Given the description of an element on the screen output the (x, y) to click on. 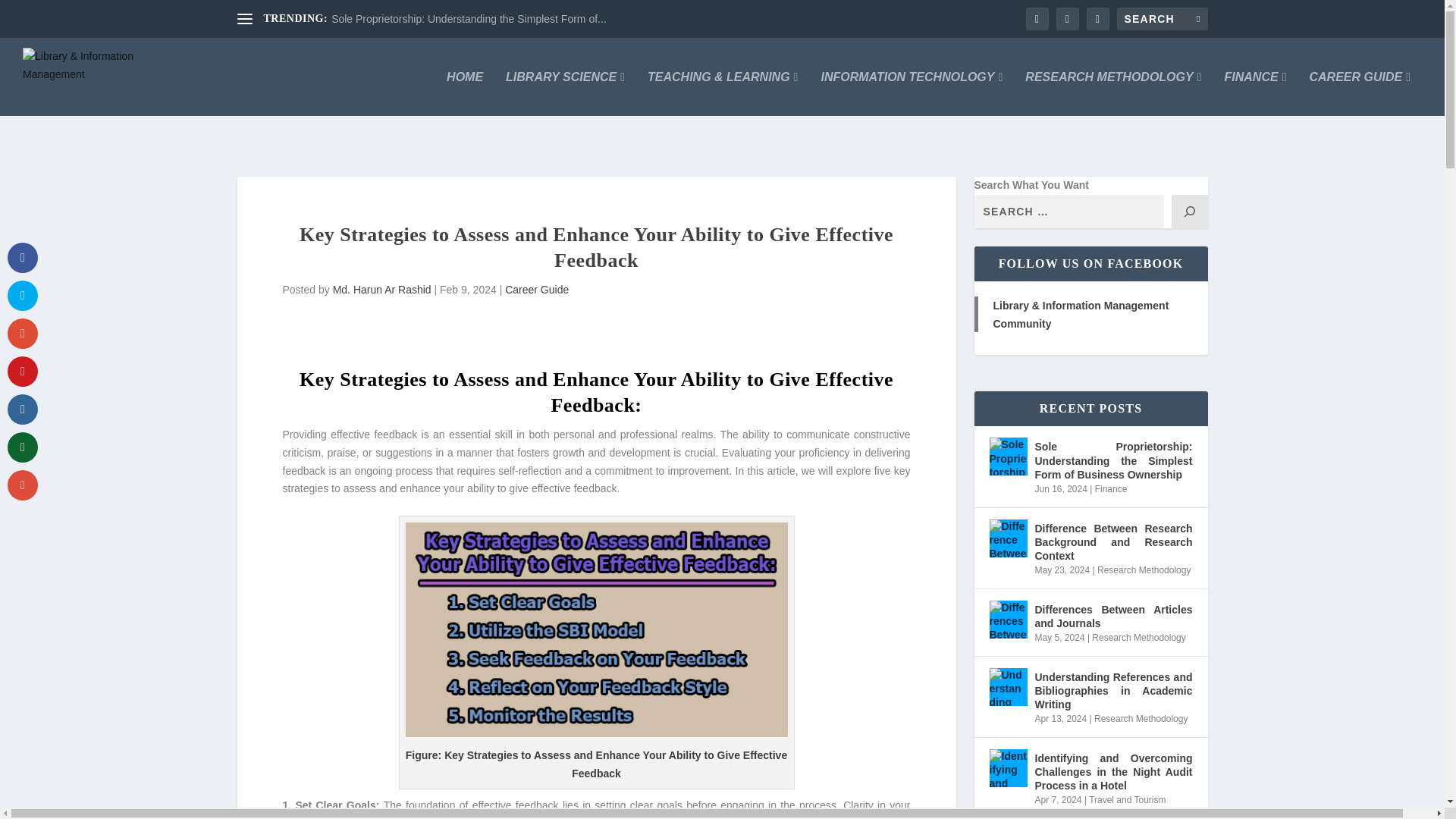
LIBRARY SCIENCE (564, 94)
CAREER GUIDE (1359, 94)
Md. Harun Ar Rashid (381, 289)
FINANCE (1255, 94)
INFORMATION TECHNOLOGY (912, 94)
Career Guide (537, 289)
Search for: (1161, 18)
Sole Proprietorship: Understanding the Simplest Form of... (469, 19)
